Given the description of an element on the screen output the (x, y) to click on. 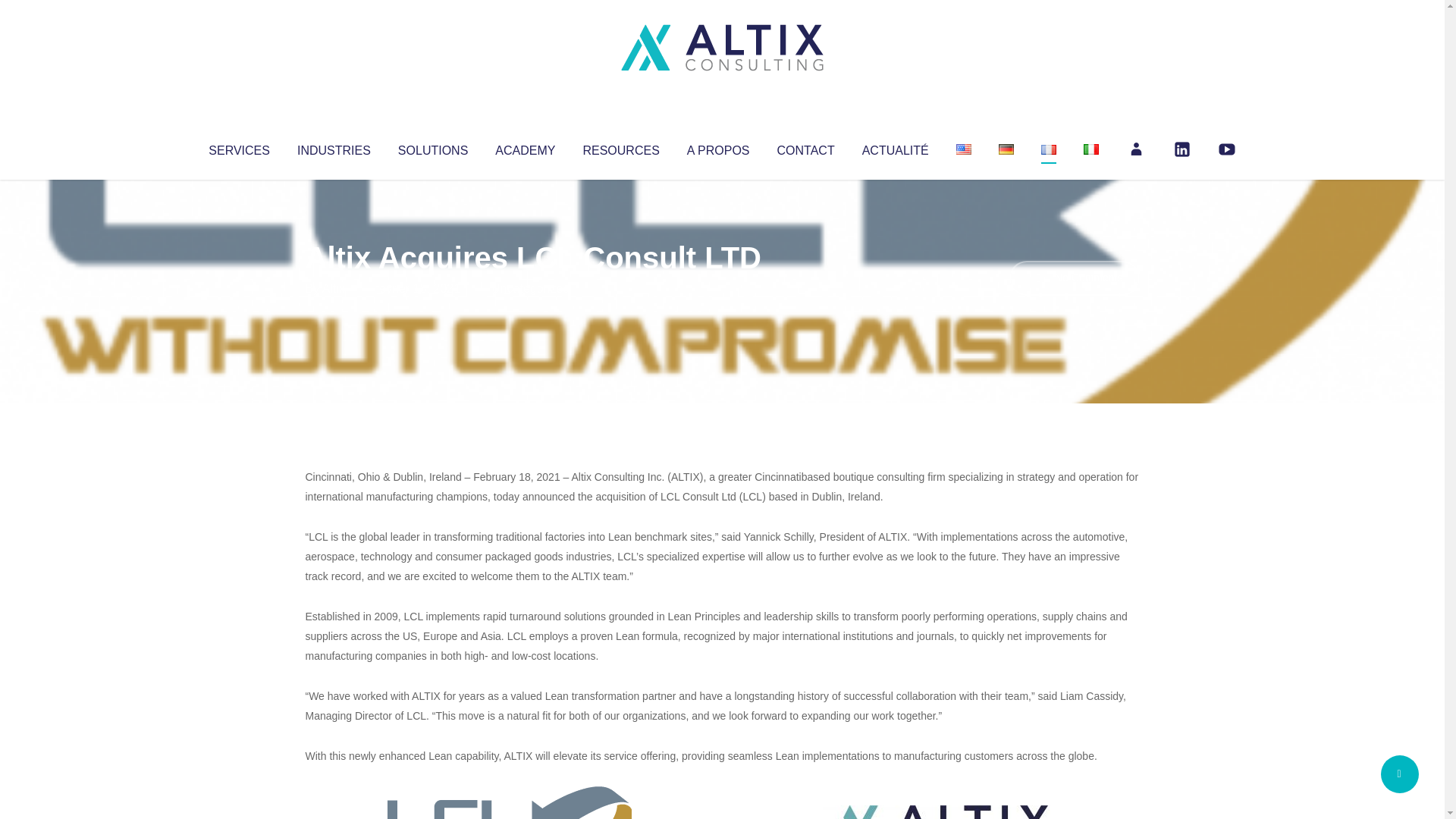
RESOURCES (620, 146)
SERVICES (238, 146)
SOLUTIONS (432, 146)
No Comments (1073, 278)
INDUSTRIES (334, 146)
A PROPOS (718, 146)
Altix (333, 287)
ACADEMY (524, 146)
Uncategorized (530, 287)
Articles par Altix (333, 287)
